Given the description of an element on the screen output the (x, y) to click on. 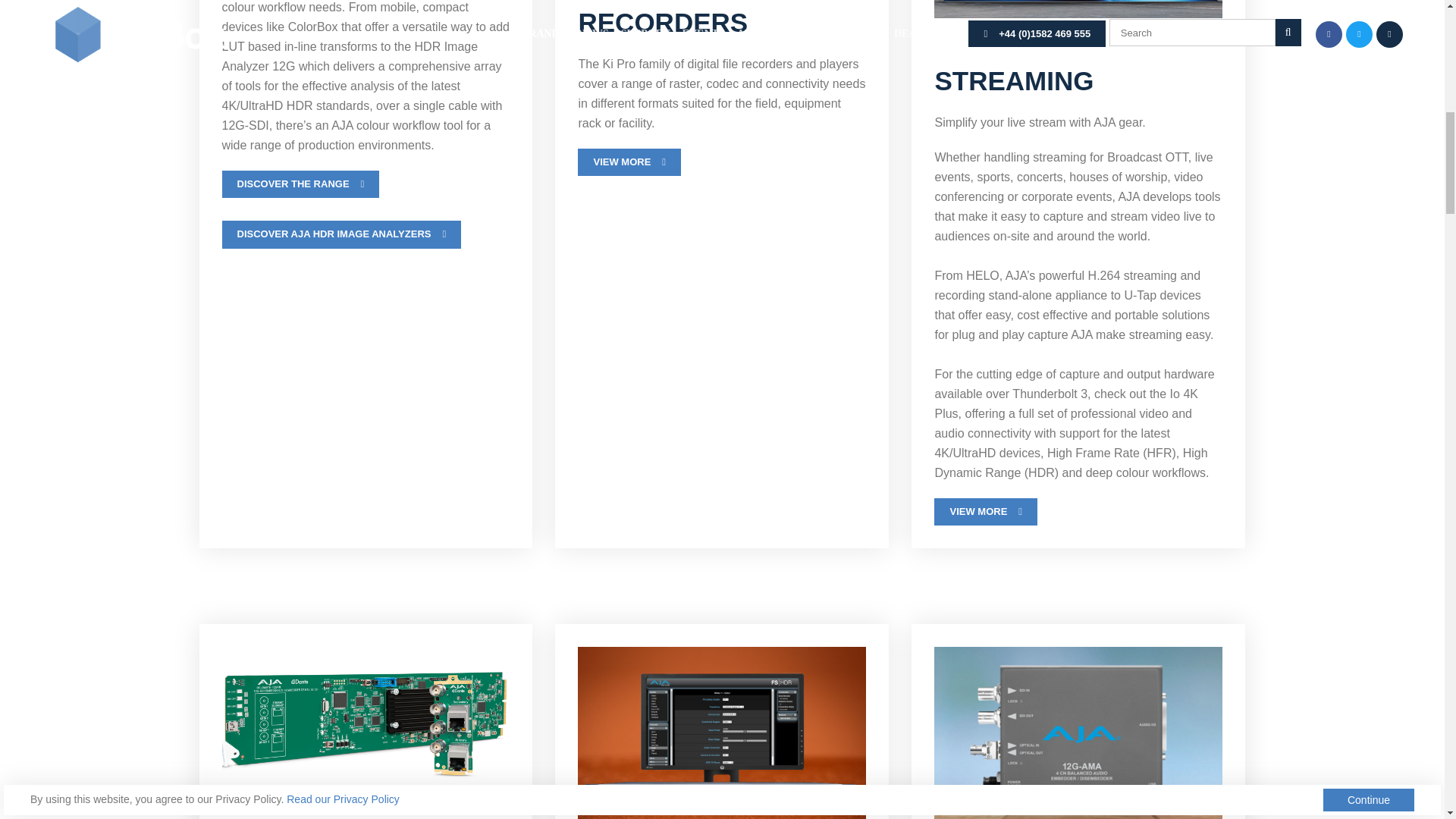
VIEW MORE (629, 162)
DISCOVER THE RANGE (299, 184)
DISCOVER AJA HDR IMAGE ANALYZERS (341, 234)
VIEW MORE (985, 511)
